Given the description of an element on the screen output the (x, y) to click on. 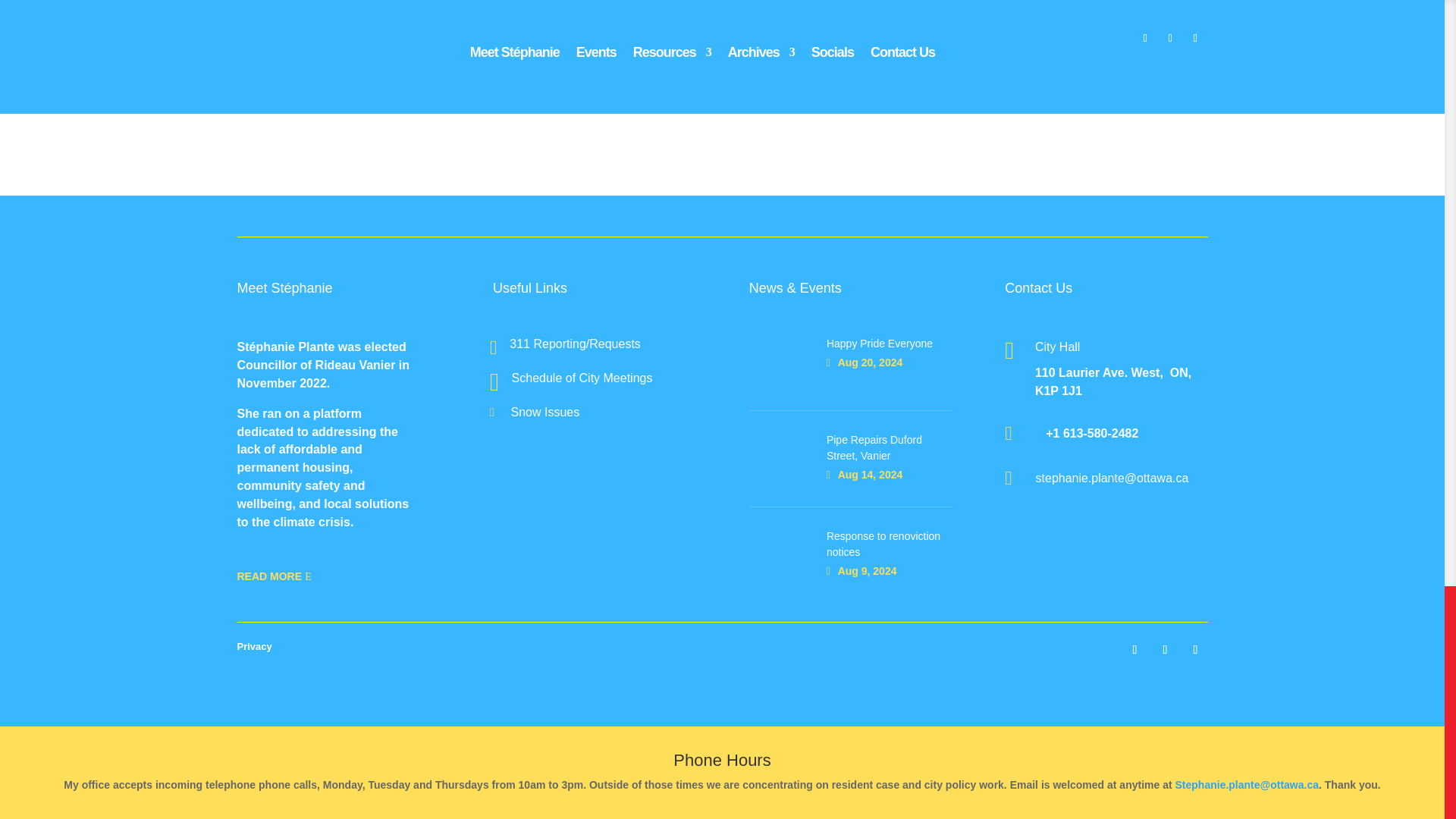
Follow on Facebook (1134, 649)
Follow on Instagram (1164, 649)
Follow on X (1194, 649)
